Given the description of an element on the screen output the (x, y) to click on. 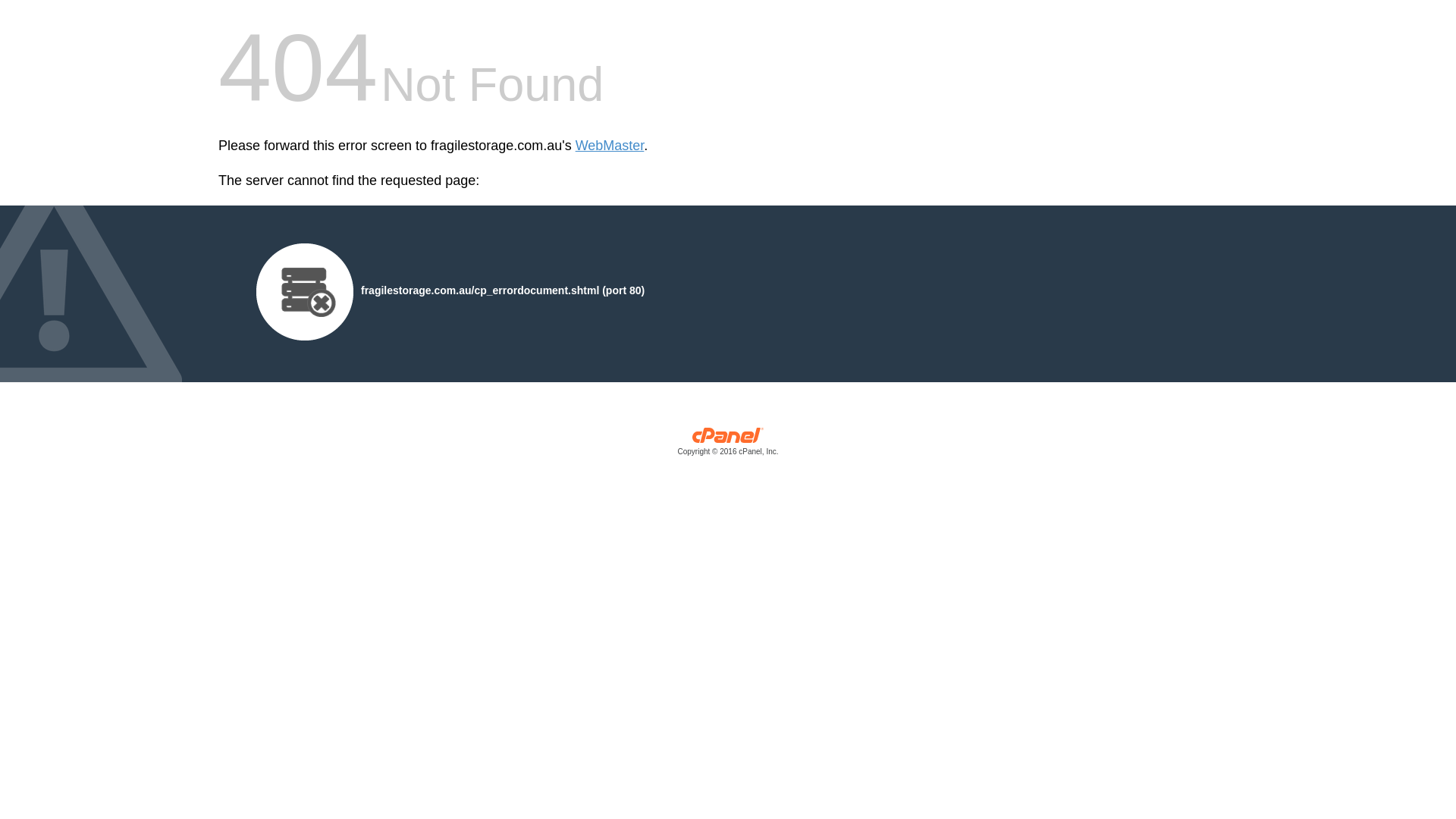
WebMaster Element type: text (609, 145)
